Given the description of an element on the screen output the (x, y) to click on. 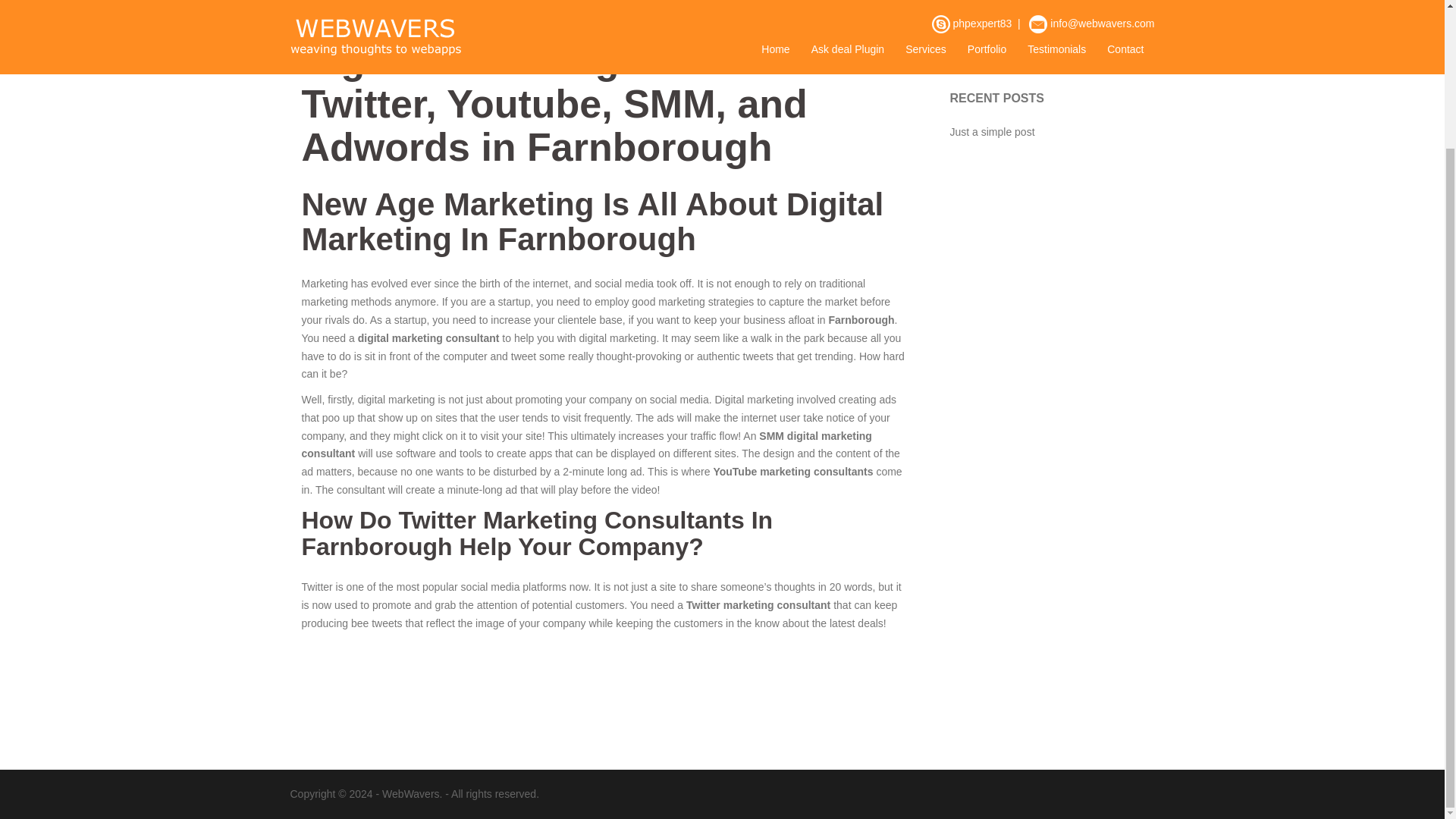
Just a simple post (991, 132)
